Given the description of an element on the screen output the (x, y) to click on. 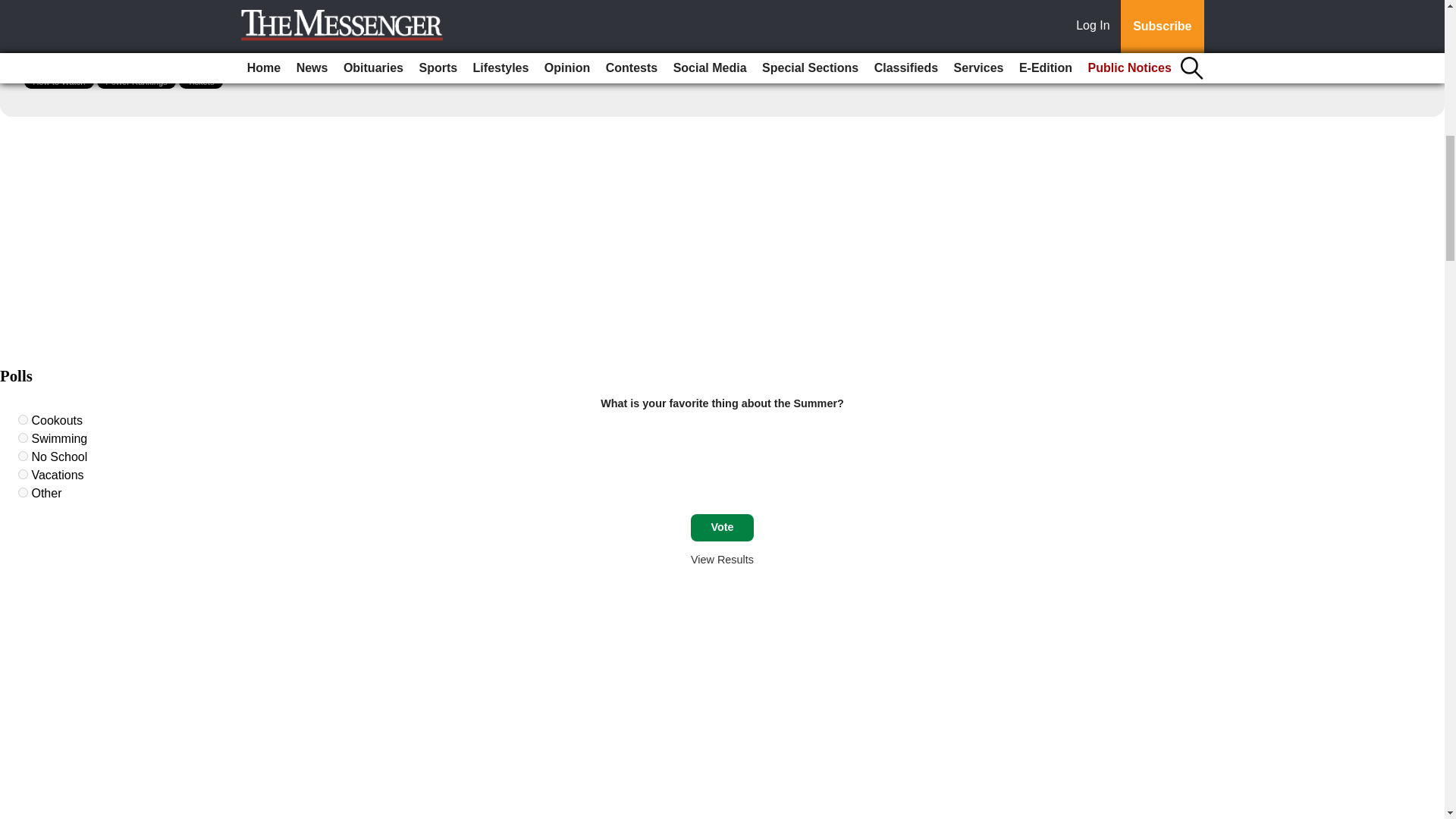
7278 (22, 492)
7277 (22, 474)
   Vote    (722, 527)
7275 (22, 438)
View Results Of This Poll (722, 559)
7276 (22, 456)
7274 (22, 419)
